Given the description of an element on the screen output the (x, y) to click on. 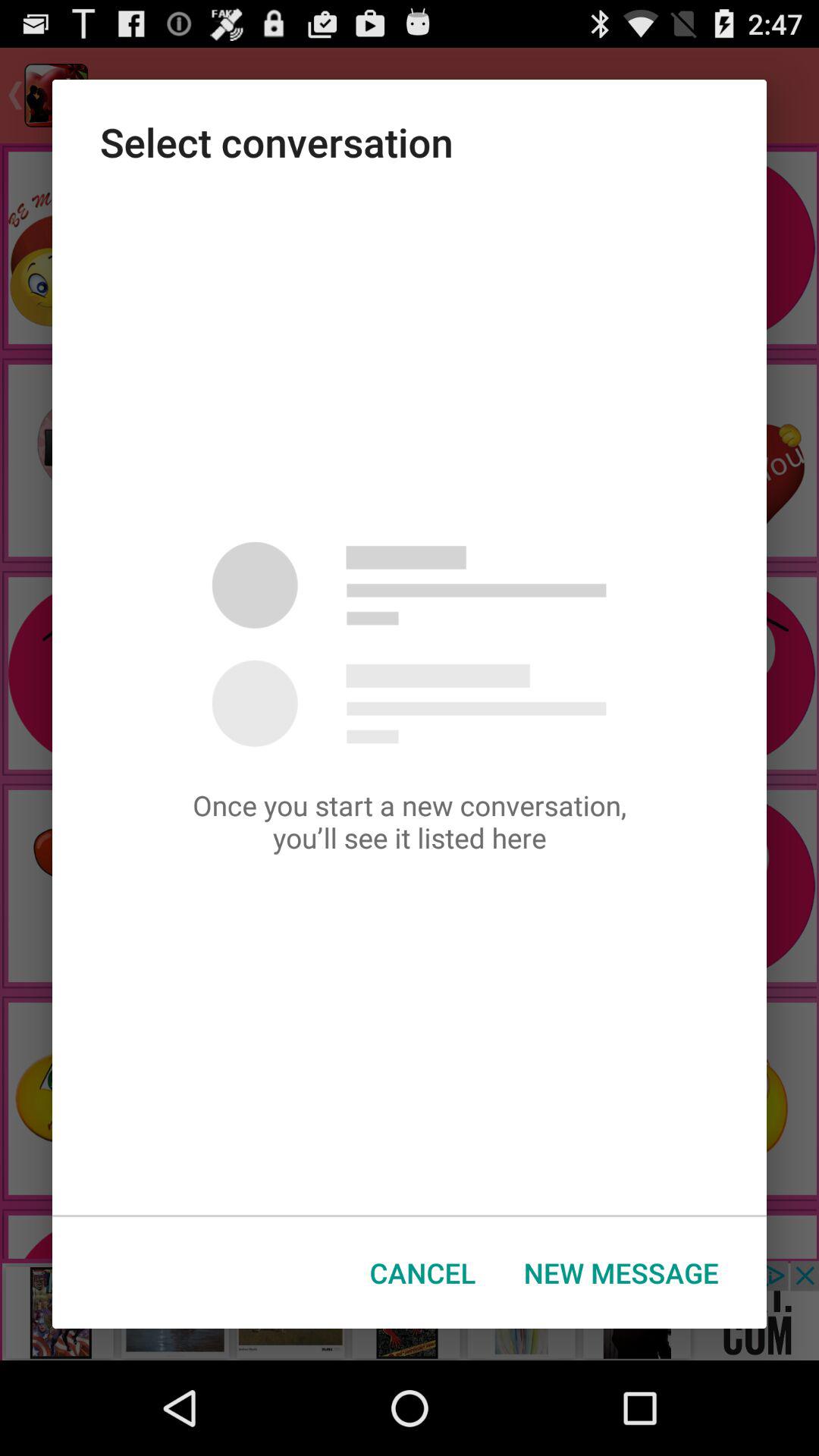
flip until the cancel (422, 1272)
